Given the description of an element on the screen output the (x, y) to click on. 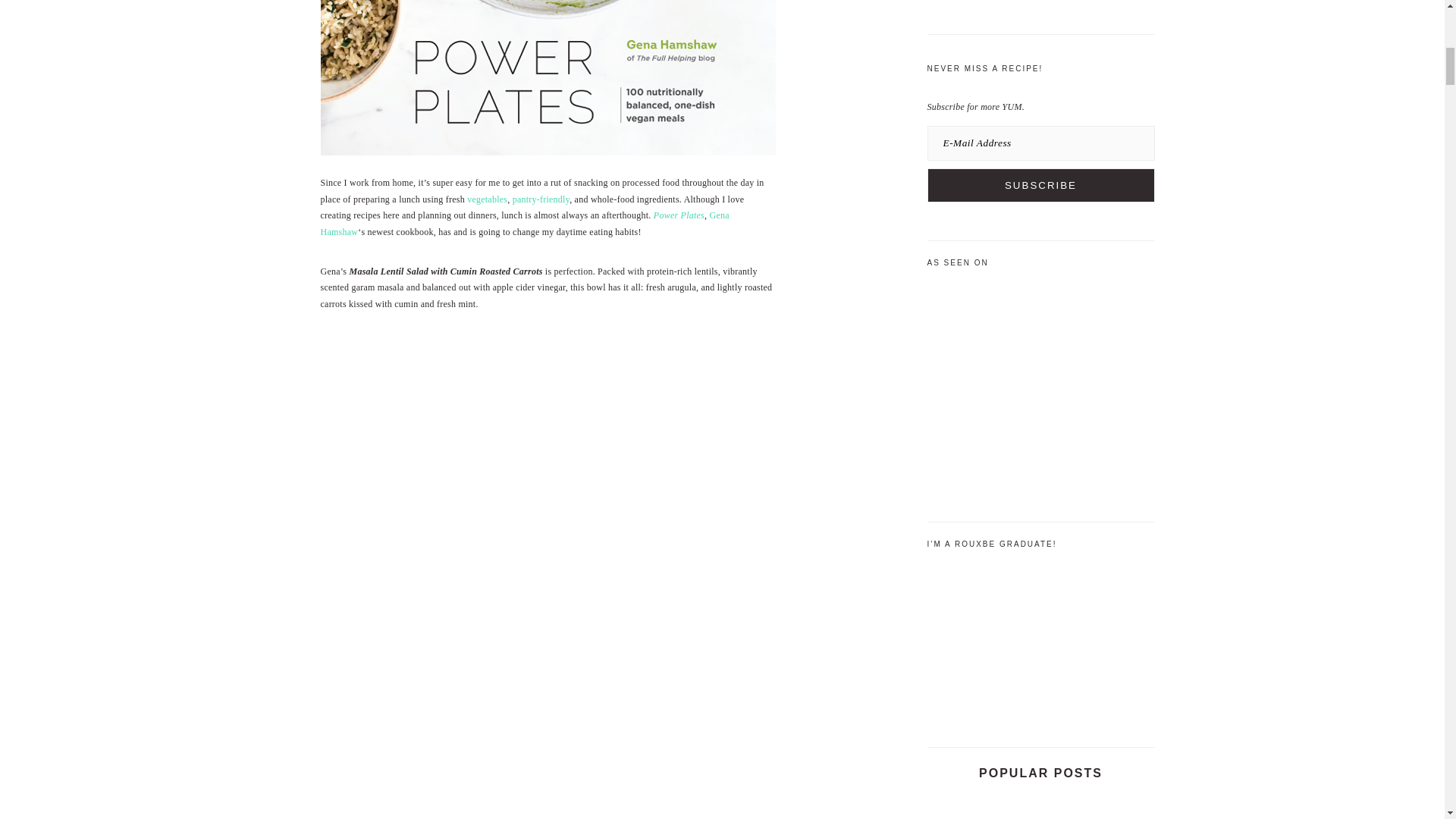
Best Vegan and Vegetarian Restaurants in Boston (981, 805)
Power Plates (678, 214)
vegetables (486, 199)
Gena Hamshaw (524, 223)
pantry-friendly (540, 199)
Best Vegan Food Blogs to Follow (1098, 805)
Subscribe (1040, 185)
